Given the description of an element on the screen output the (x, y) to click on. 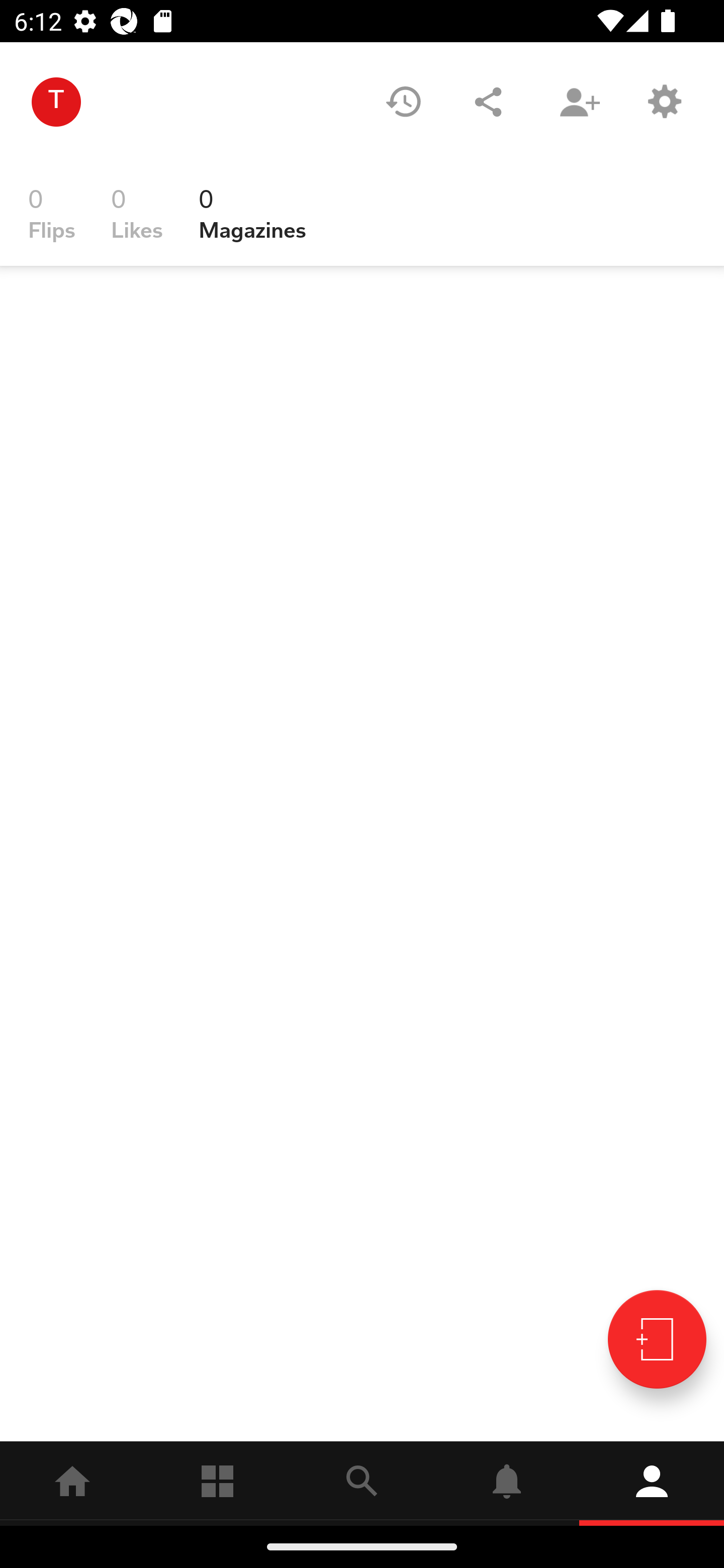
Share (487, 101)
Find Friends (579, 101)
Settings (663, 101)
0 Flips (51, 213)
0 Likes (137, 213)
0 Magazines (252, 213)
home (72, 1482)
Following (216, 1482)
explore (361, 1482)
Notifications (506, 1482)
Profile (651, 1482)
